Given the description of an element on the screen output the (x, y) to click on. 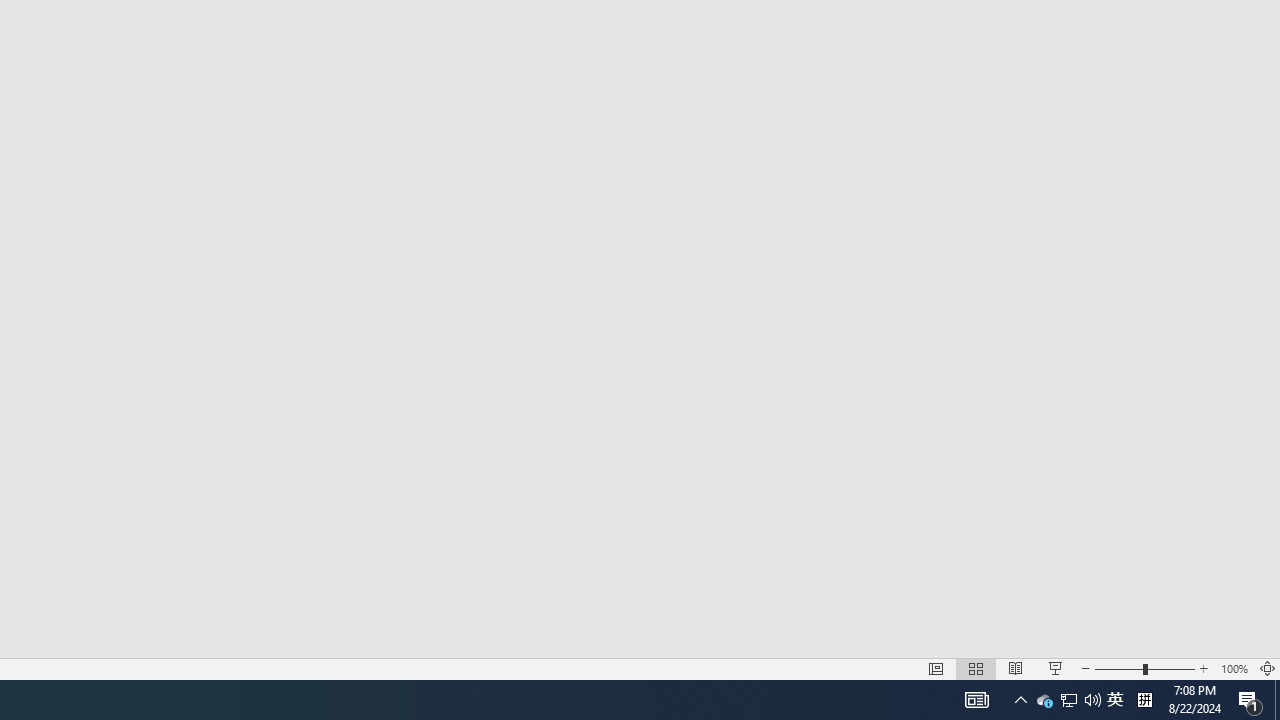
Zoom 100% (1234, 668)
